Given the description of an element on the screen output the (x, y) to click on. 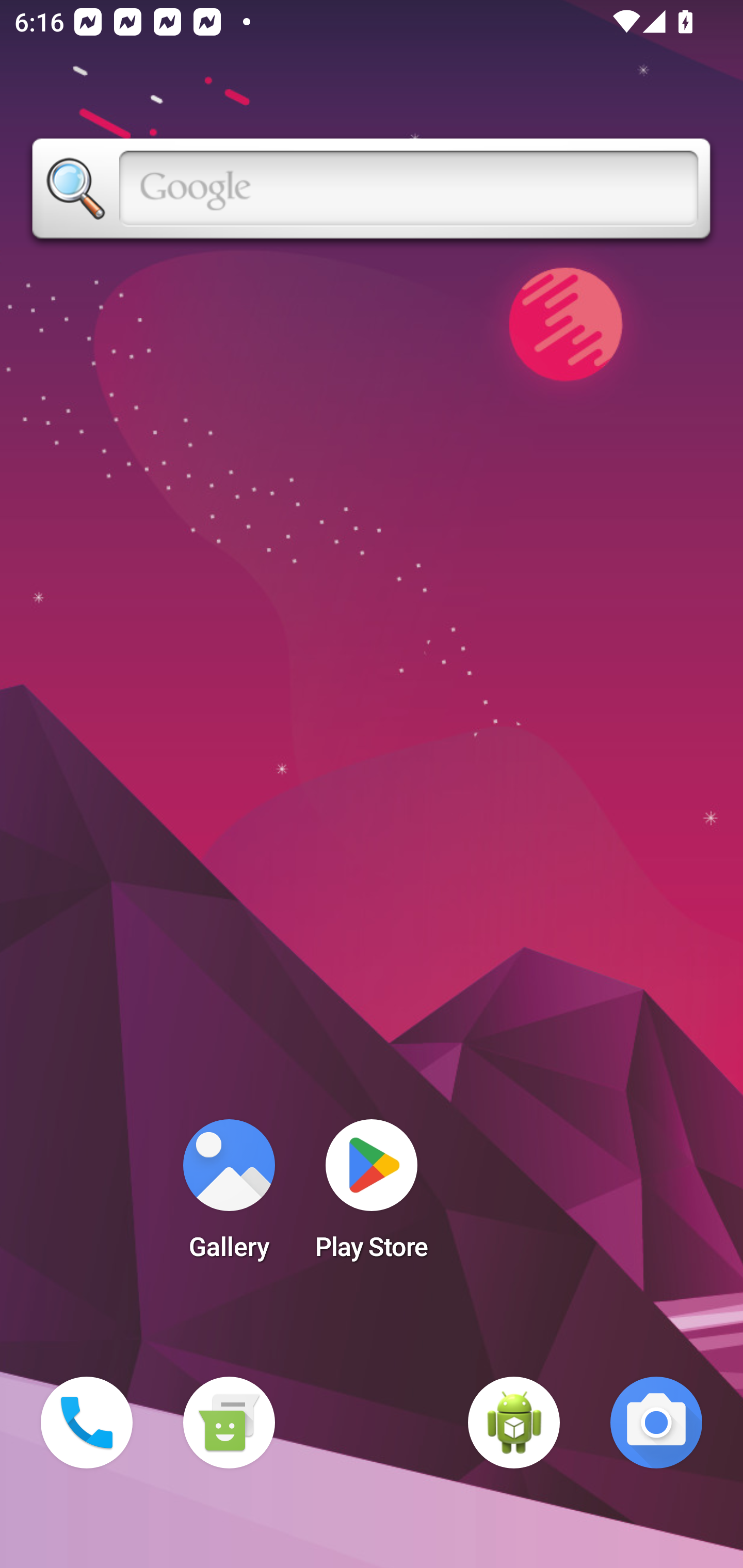
Gallery (228, 1195)
Play Store (371, 1195)
Phone (86, 1422)
Messaging (228, 1422)
WebView Browser Tester (513, 1422)
Camera (656, 1422)
